Given the description of an element on the screen output the (x, y) to click on. 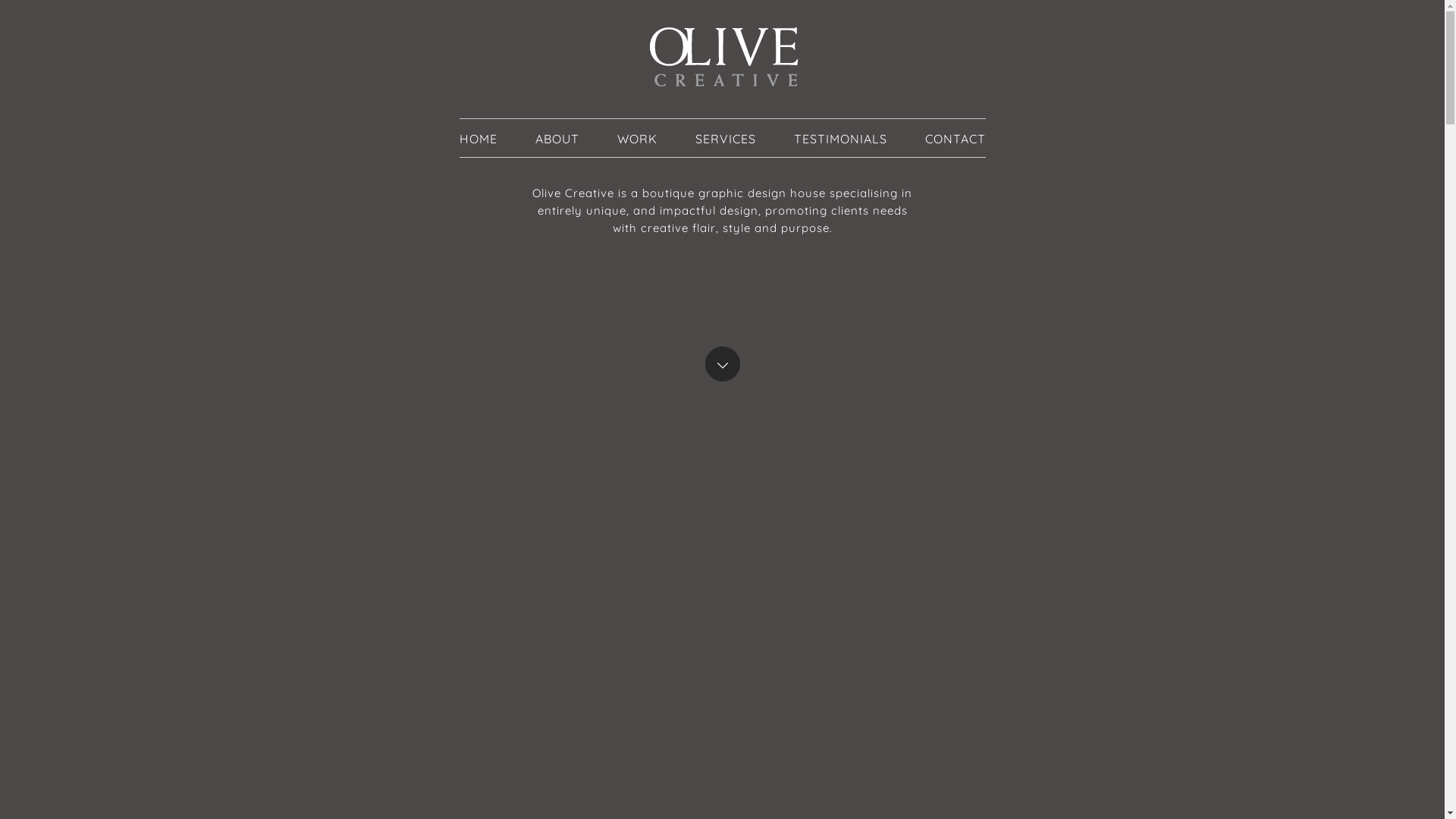
SERVICES Element type: text (724, 138)
ABOUT Element type: text (557, 138)
WORK Element type: text (637, 138)
HOME Element type: text (478, 138)
CONTACT Element type: text (955, 138)
TESTIMONIALS Element type: text (839, 138)
